Given the description of an element on the screen output the (x, y) to click on. 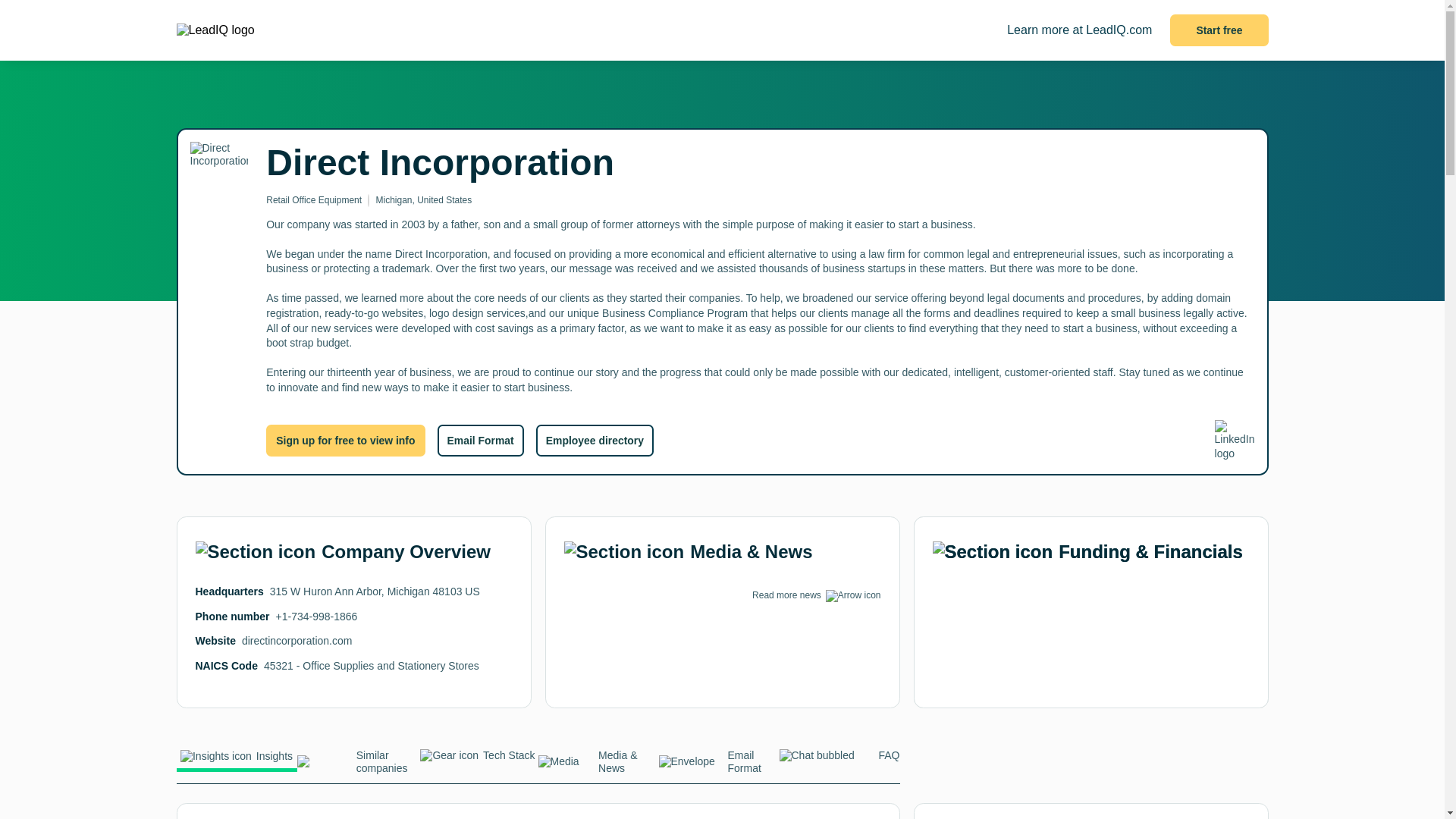
Sign up for free to view info (345, 440)
Read more news (786, 594)
Learn more at LeadIQ.com (1079, 29)
Email Format (479, 440)
Insights (236, 761)
Similar companies (357, 765)
Tech Stack (476, 759)
directincorporation.com (296, 640)
Start free (1219, 29)
Employee directory (594, 440)
FAQ (838, 759)
Email Format (718, 765)
